Given the description of an element on the screen output the (x, y) to click on. 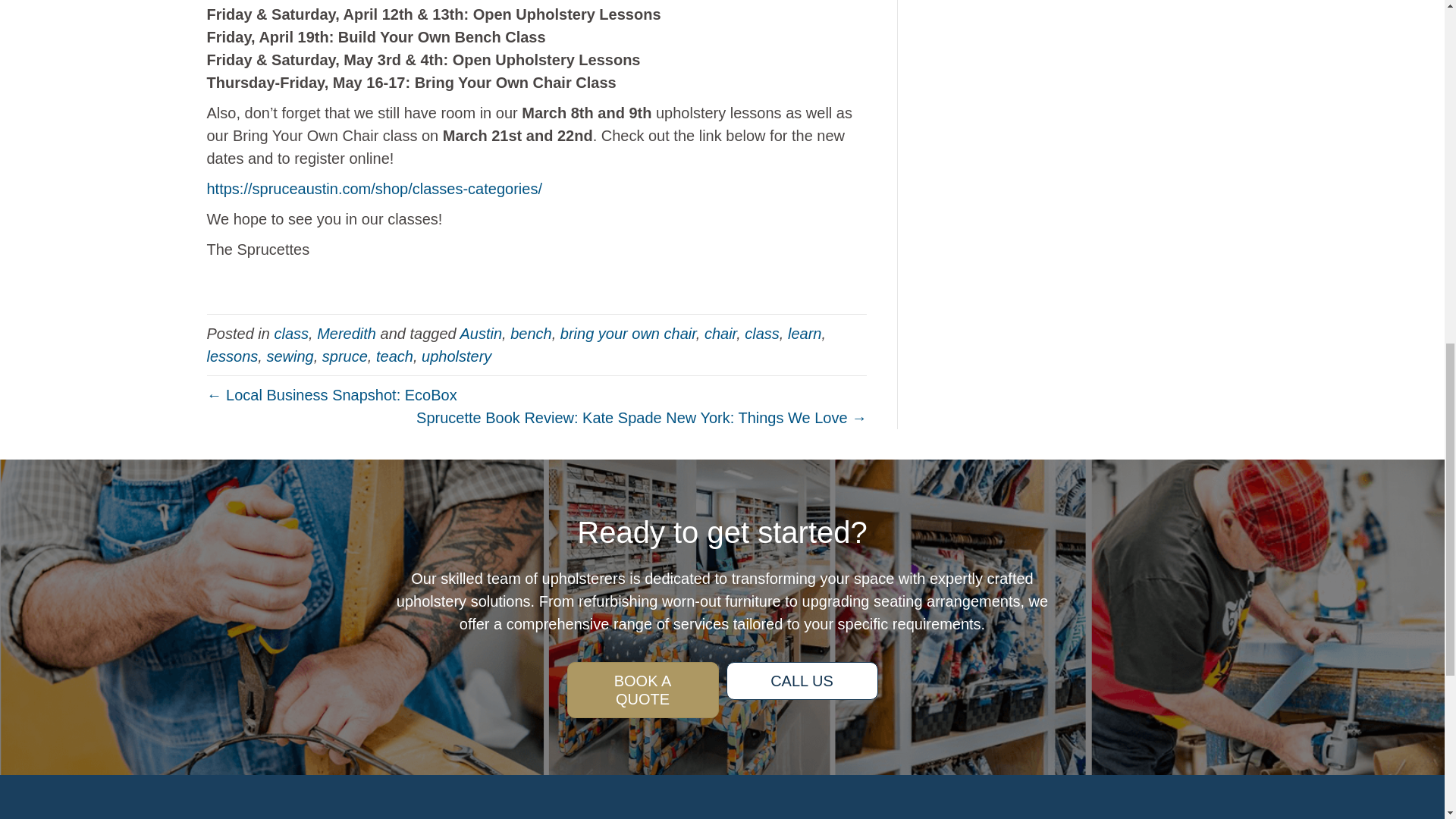
chair (720, 332)
Austin (481, 332)
lessons (231, 355)
bring your own chair (627, 332)
bench (531, 332)
Meredith (346, 332)
upholstery (457, 355)
teach (394, 355)
class (290, 332)
class (761, 332)
learn (804, 332)
sewing (289, 355)
spruce (344, 355)
